Given the description of an element on the screen output the (x, y) to click on. 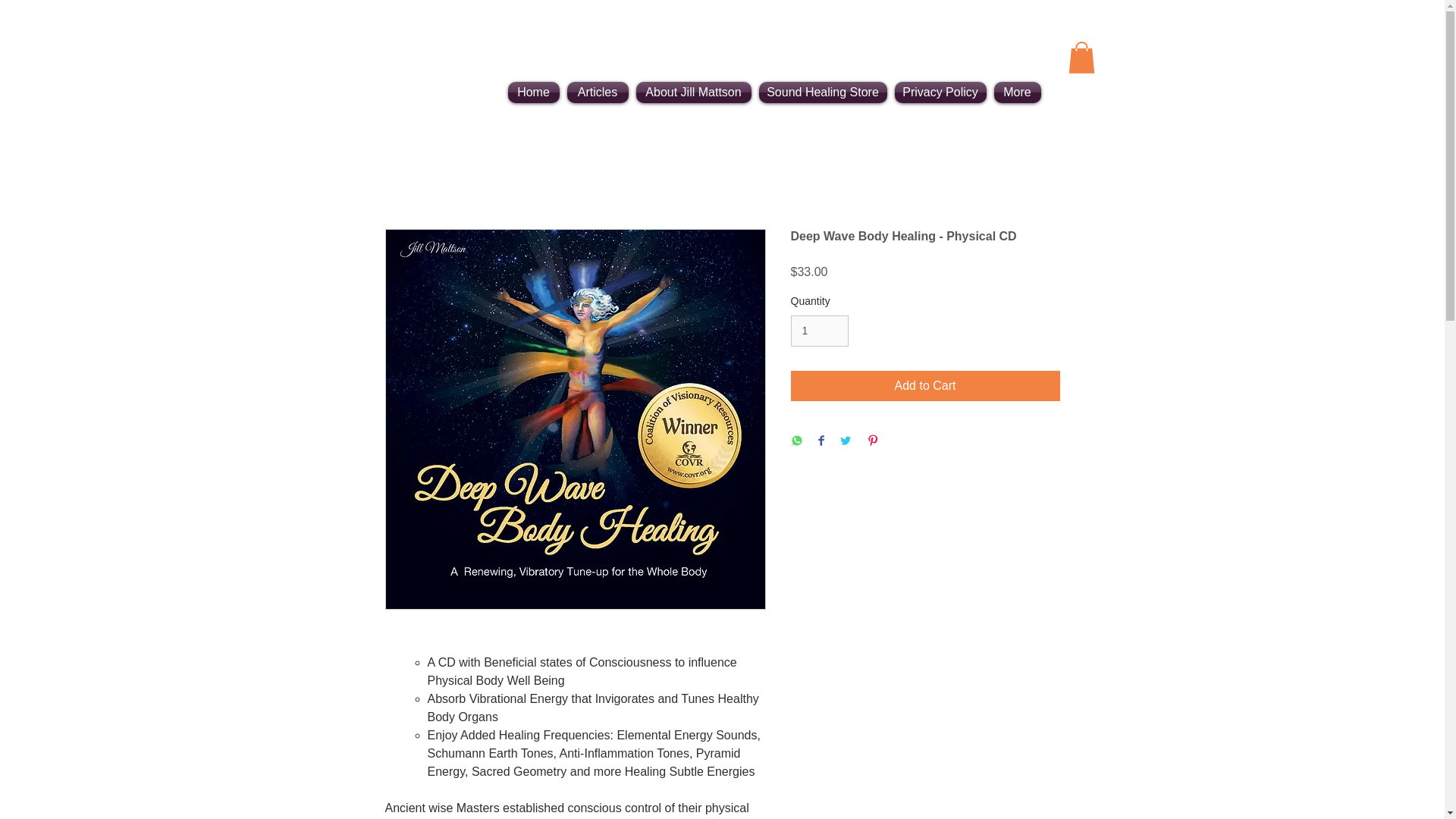
About Jill Mattson (693, 92)
Home (535, 92)
Add to Cart (924, 386)
Articles (596, 92)
1 (818, 330)
Sound Healing Store (823, 92)
Privacy Policy (939, 92)
